Given the description of an element on the screen output the (x, y) to click on. 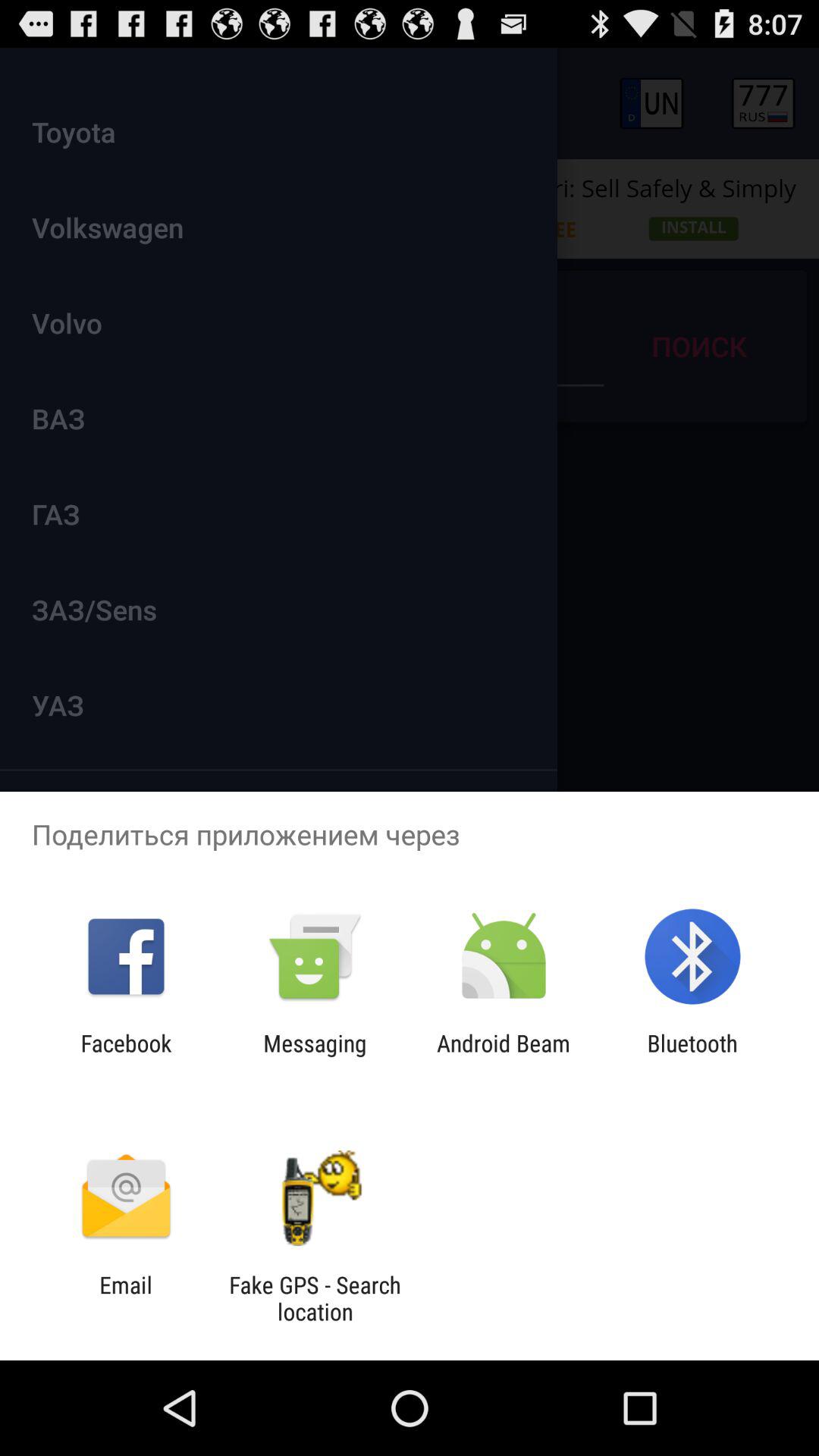
launch icon next to facebook icon (314, 1056)
